Given the description of an element on the screen output the (x, y) to click on. 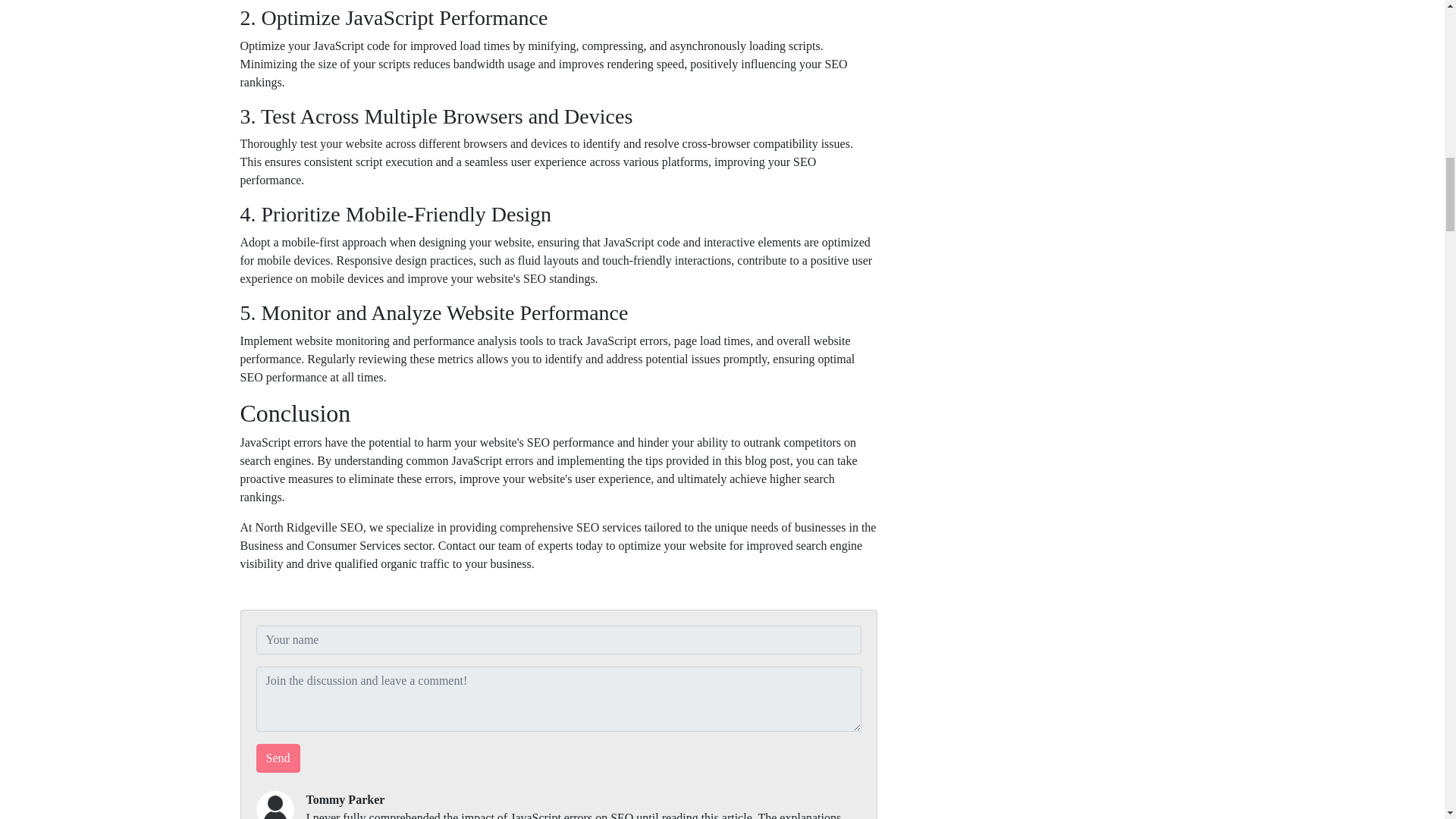
Send (277, 758)
Send (277, 758)
